Given the description of an element on the screen output the (x, y) to click on. 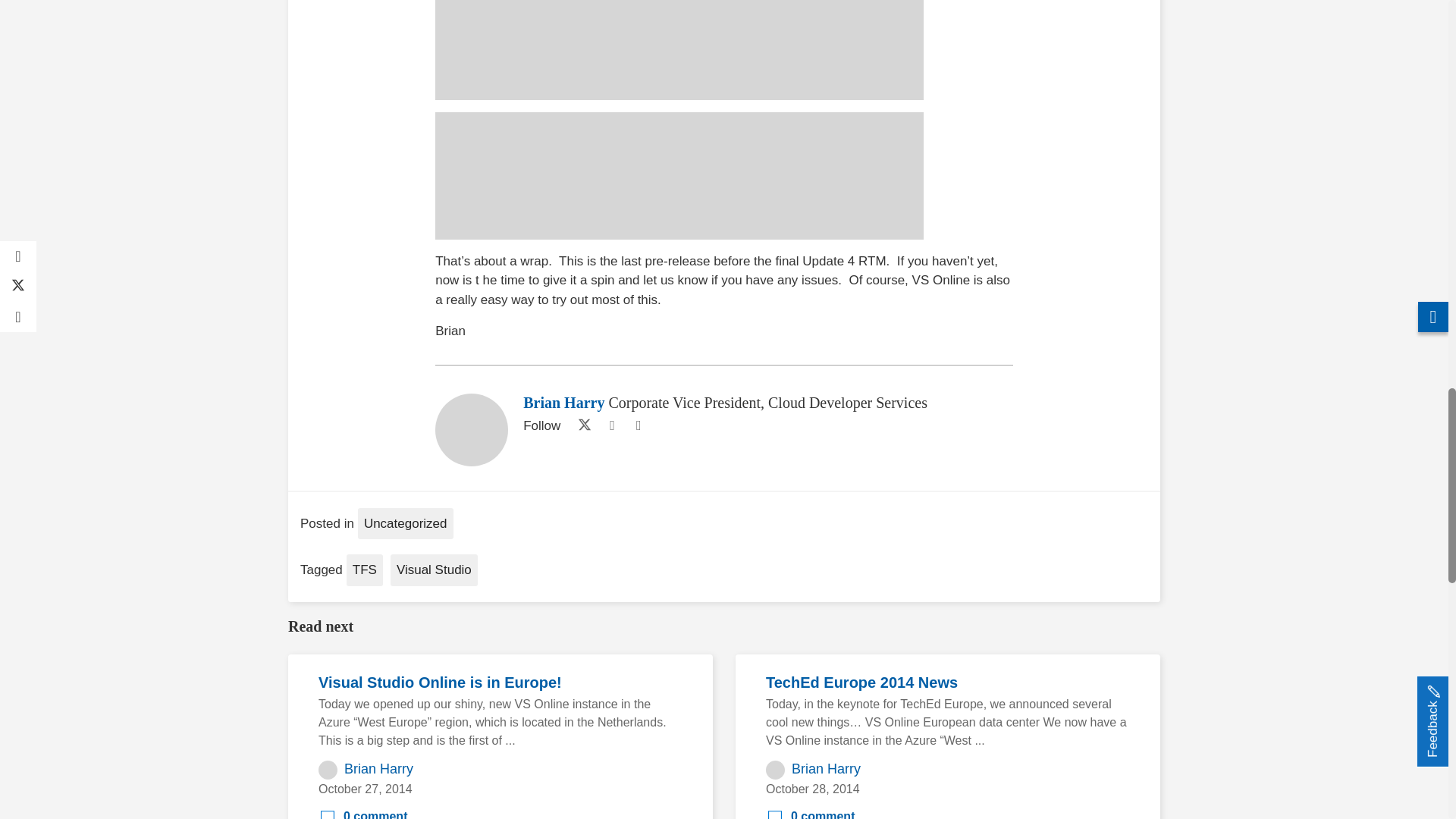
RSS Feed (637, 425)
Twitter (581, 425)
Website (611, 425)
